Given the description of an element on the screen output the (x, y) to click on. 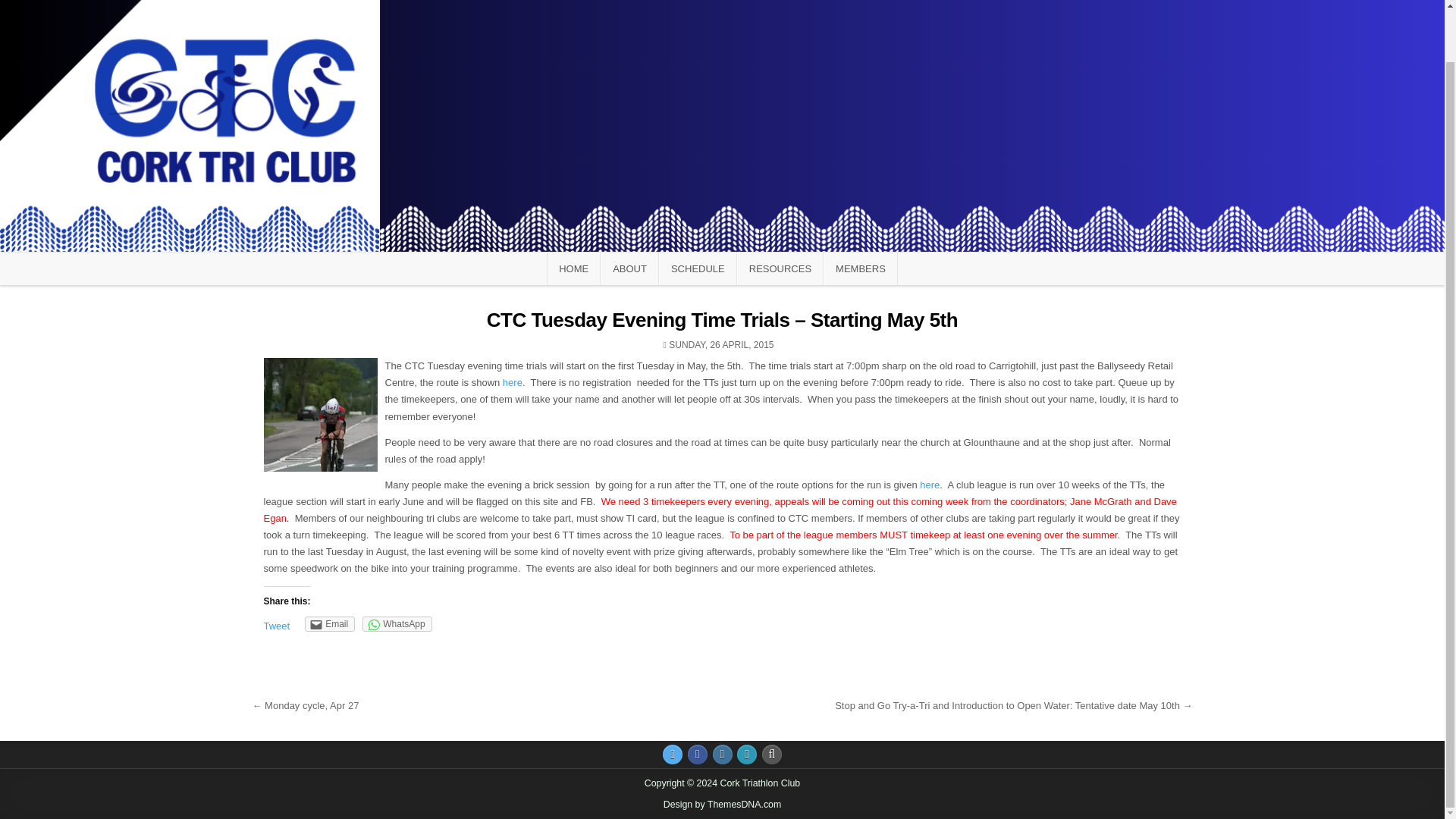
Click to share on WhatsApp (396, 623)
HOME (573, 268)
Instagram (722, 754)
Click to email this to a friend (329, 623)
RESOURCES (780, 268)
Facebook (697, 754)
Email Us (746, 754)
MEMBERS (861, 268)
Twitter (672, 754)
SCHEDULE (697, 268)
